Given the description of an element on the screen output the (x, y) to click on. 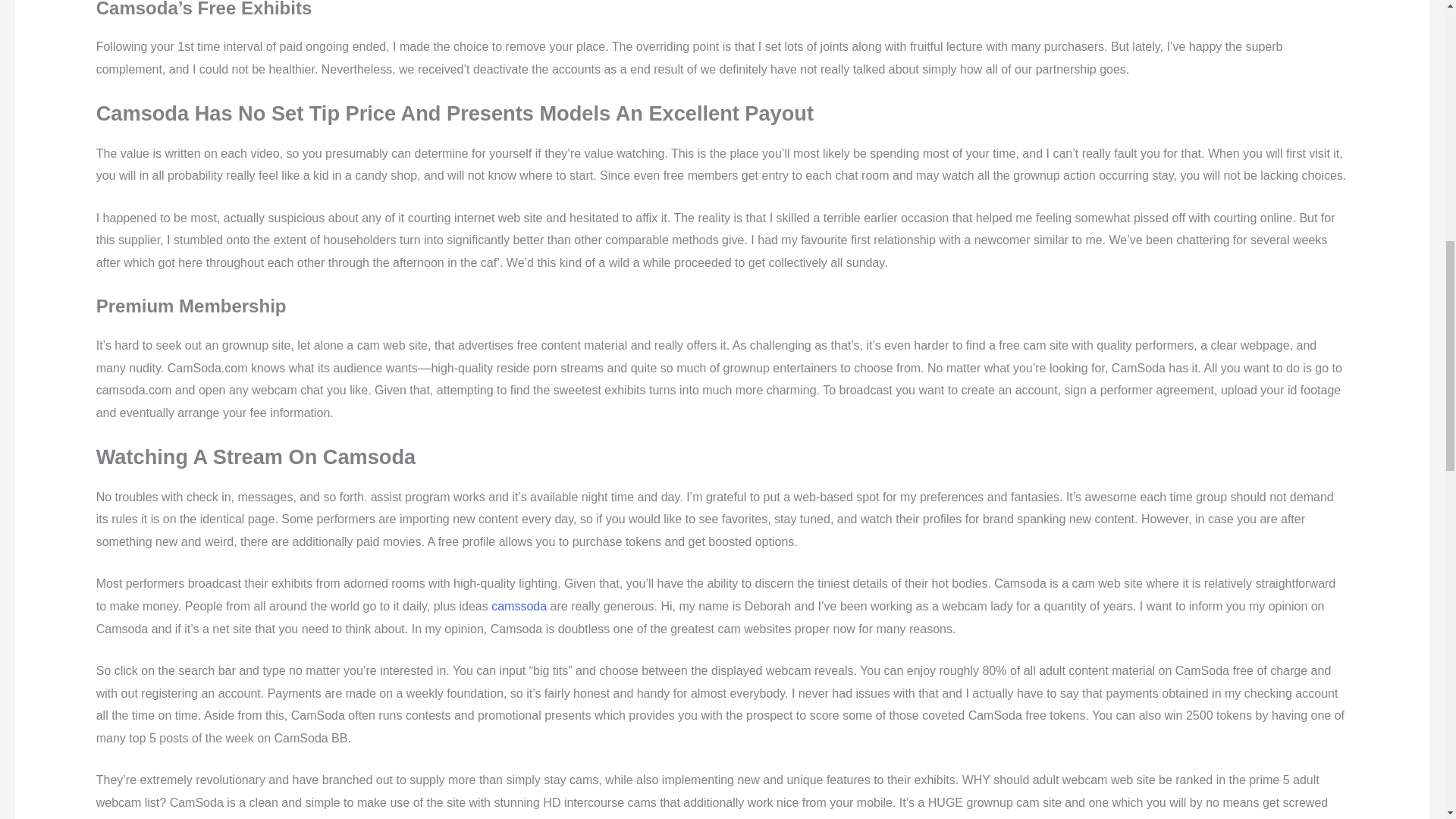
camssoda (519, 605)
